Given the description of an element on the screen output the (x, y) to click on. 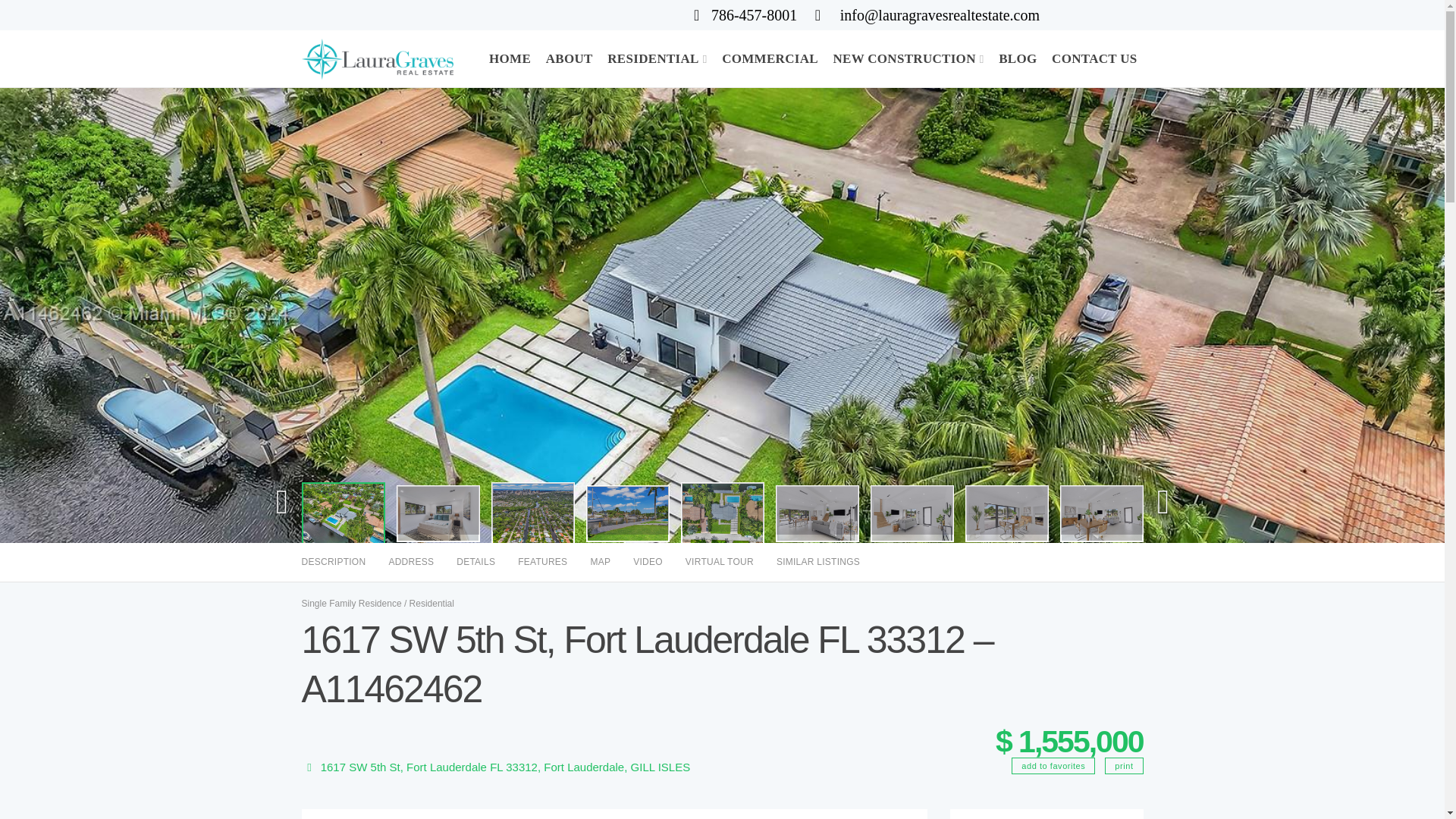
786-457-8001 (745, 15)
HOME (510, 58)
RESIDENTIAL (657, 58)
ABOUT (569, 58)
